Given the description of an element on the screen output the (x, y) to click on. 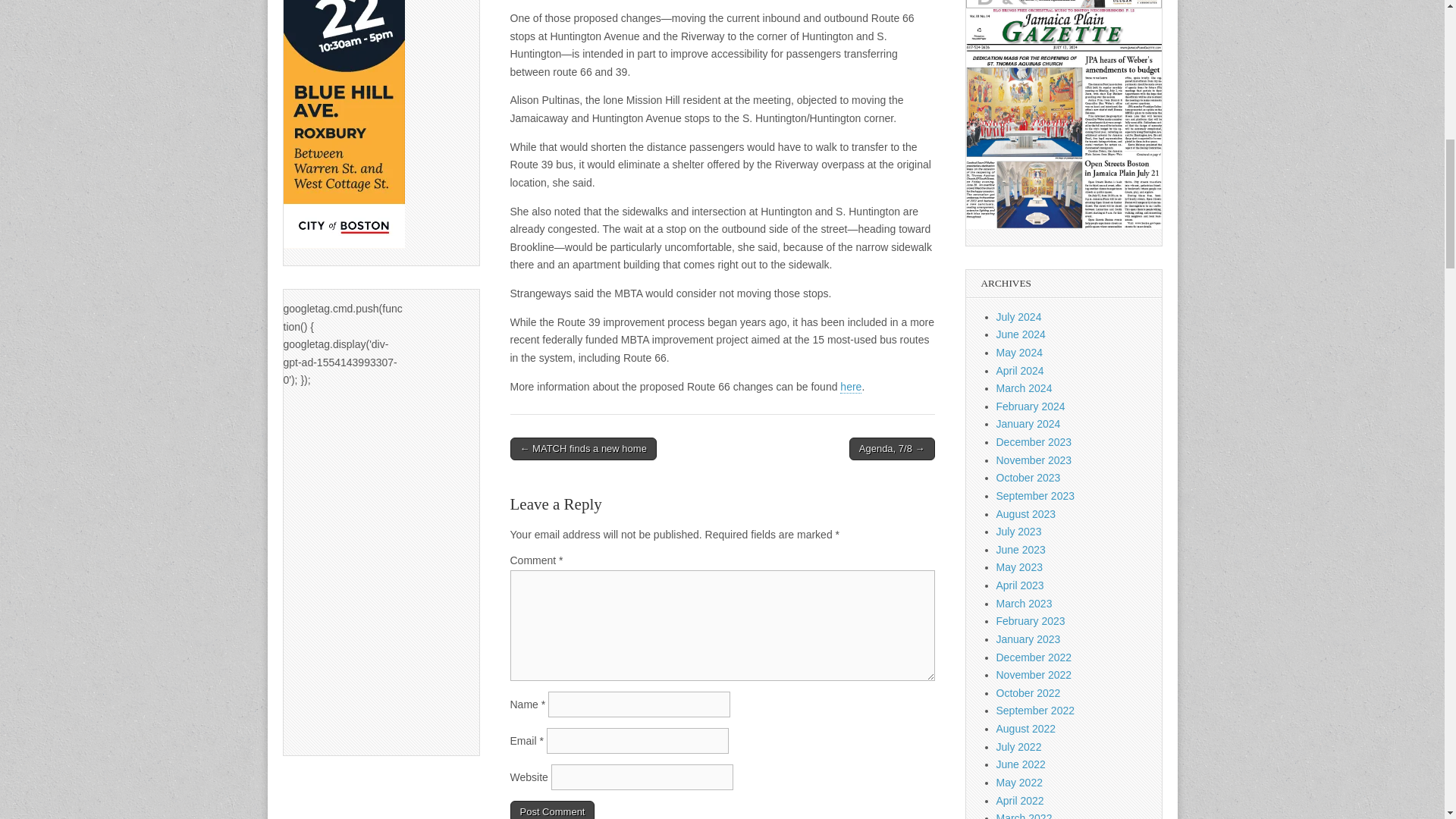
Post Comment (551, 809)
here (850, 386)
Post Comment (551, 809)
